Given the description of an element on the screen output the (x, y) to click on. 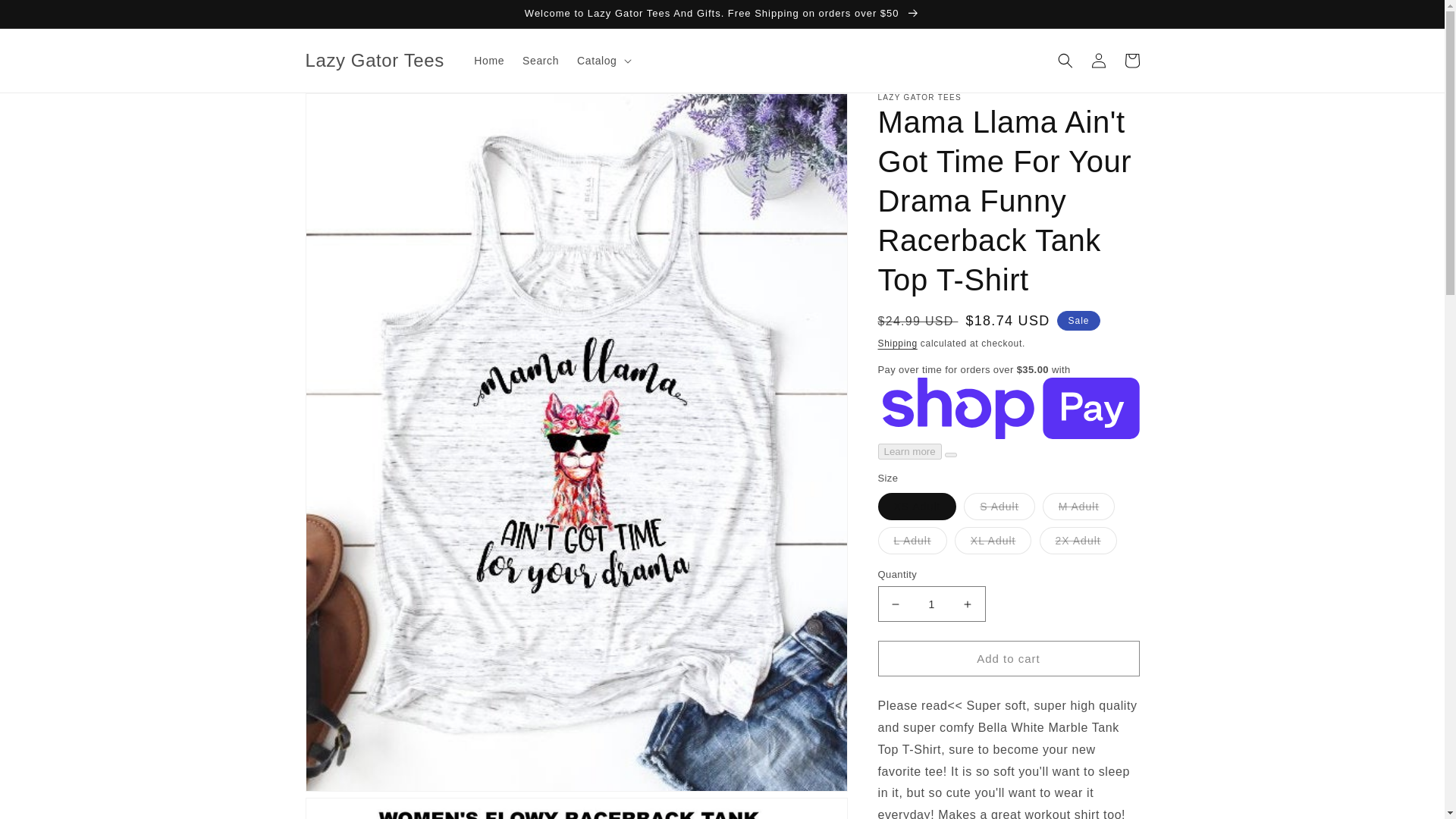
Lazy Gator Tees (374, 60)
Skip to content (45, 17)
Search (540, 60)
Cart (1131, 60)
Home (488, 60)
